Given the description of an element on the screen output the (x, y) to click on. 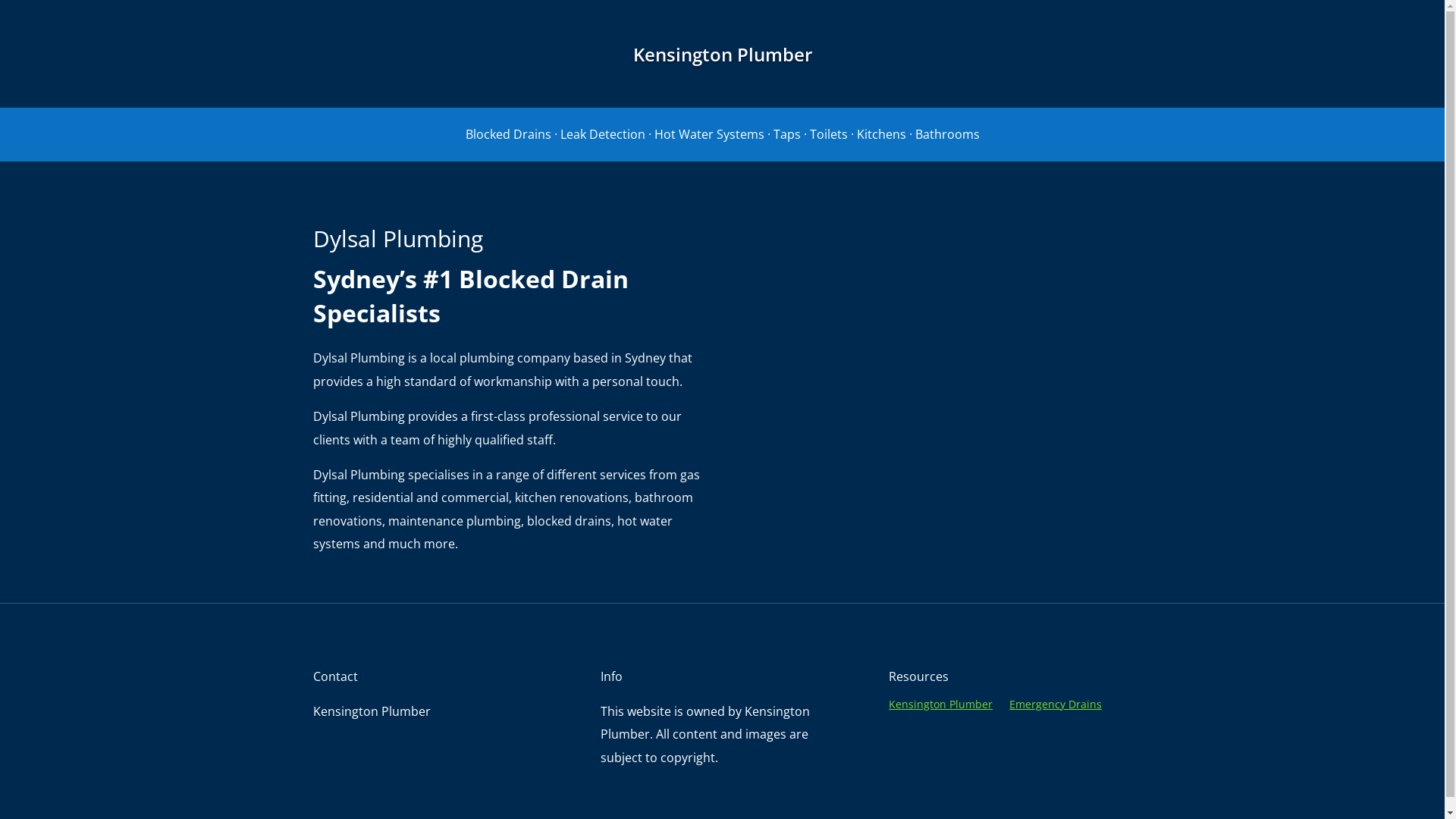
Emergency Drains Element type: text (1055, 707)
Kensington Plumber Element type: text (940, 707)
